Given the description of an element on the screen output the (x, y) to click on. 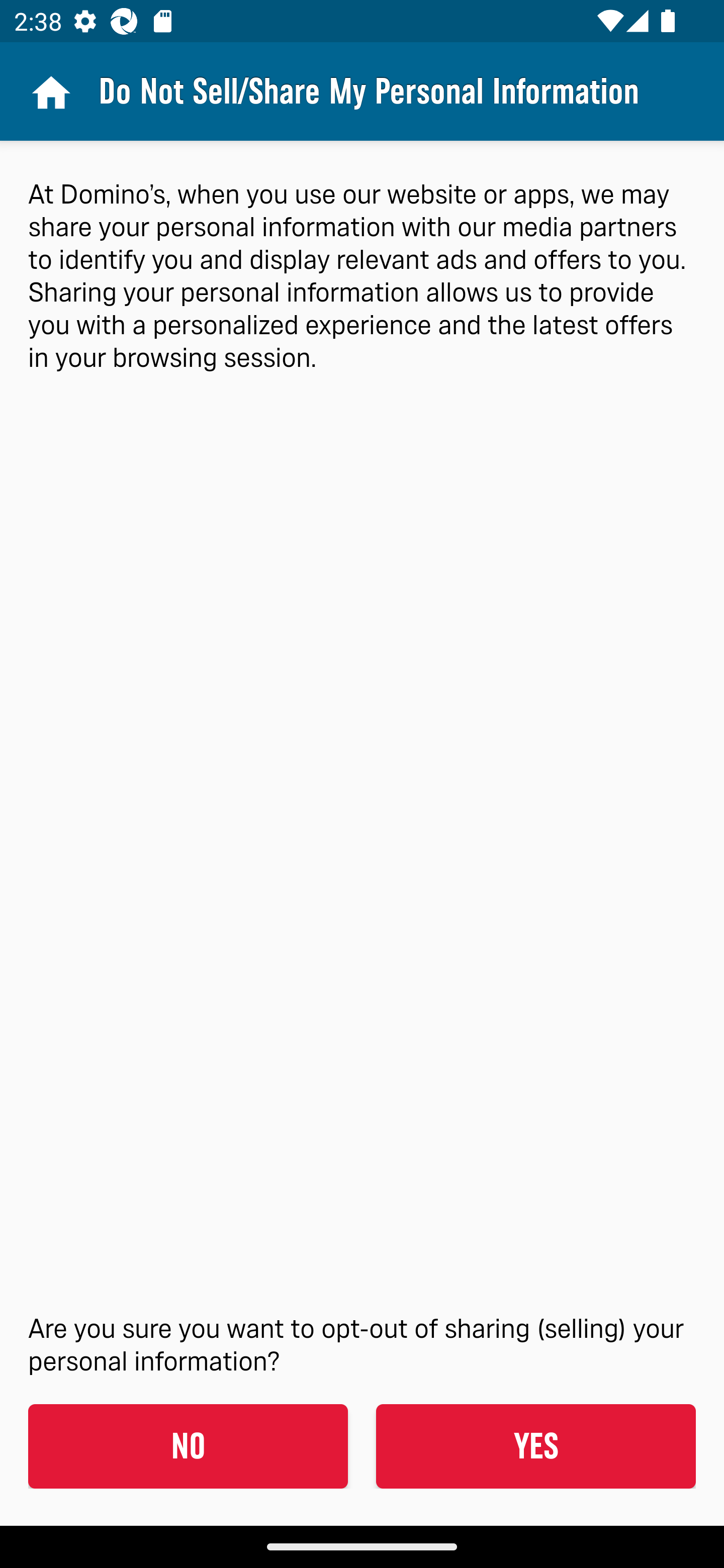
Home (49, 91)
NO (188, 1446)
YES (535, 1446)
